Given the description of an element on the screen output the (x, y) to click on. 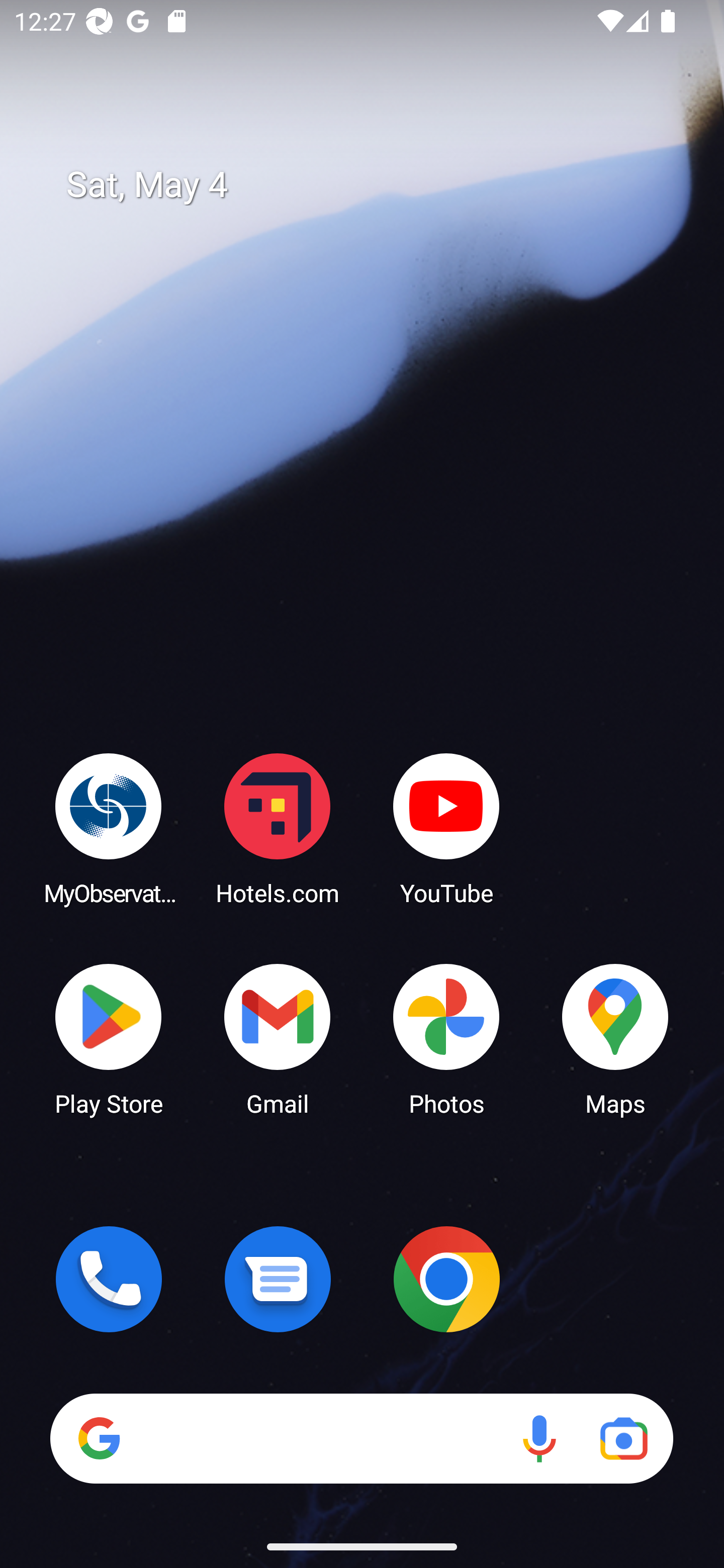
Sat, May 4 (375, 184)
MyObservatory (108, 828)
Hotels.com (277, 828)
YouTube (445, 828)
Play Store (108, 1038)
Gmail (277, 1038)
Photos (445, 1038)
Maps (615, 1038)
Phone (108, 1279)
Messages (277, 1279)
Chrome (446, 1279)
Search Voice search Google Lens (361, 1438)
Voice search (539, 1438)
Google Lens (623, 1438)
